Given the description of an element on the screen output the (x, y) to click on. 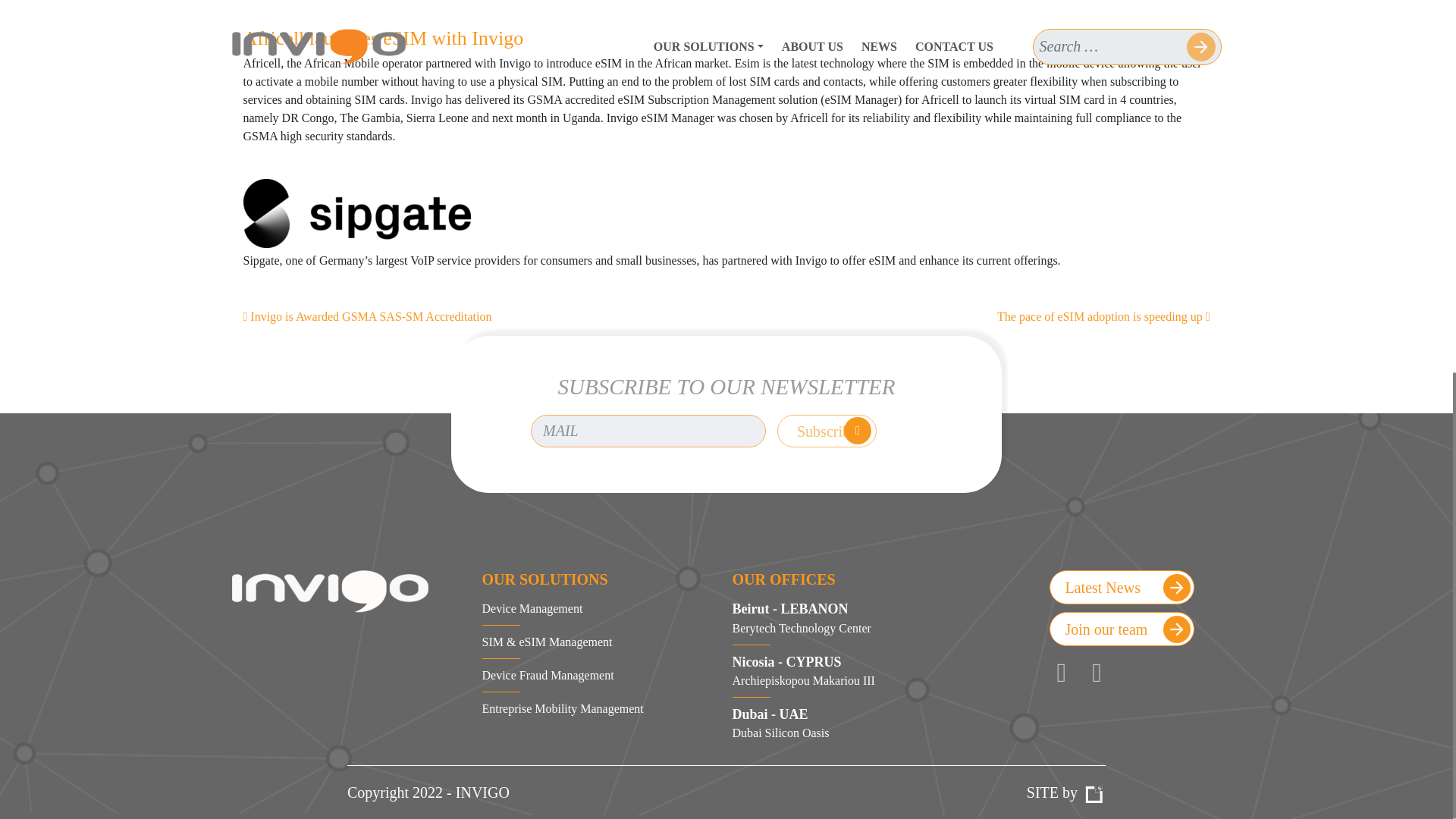
Device Management (532, 608)
 Invigo is Awarded GSMA SAS-SM Accreditation (367, 316)
Join our team (1121, 628)
Invigo expands its eSIM Market 3 (851, 671)
Latest News (356, 213)
Device Fraud Management (1121, 587)
The pace of eSIM adoption is speeding up  (851, 723)
Subscribe (547, 675)
